Given the description of an element on the screen output the (x, y) to click on. 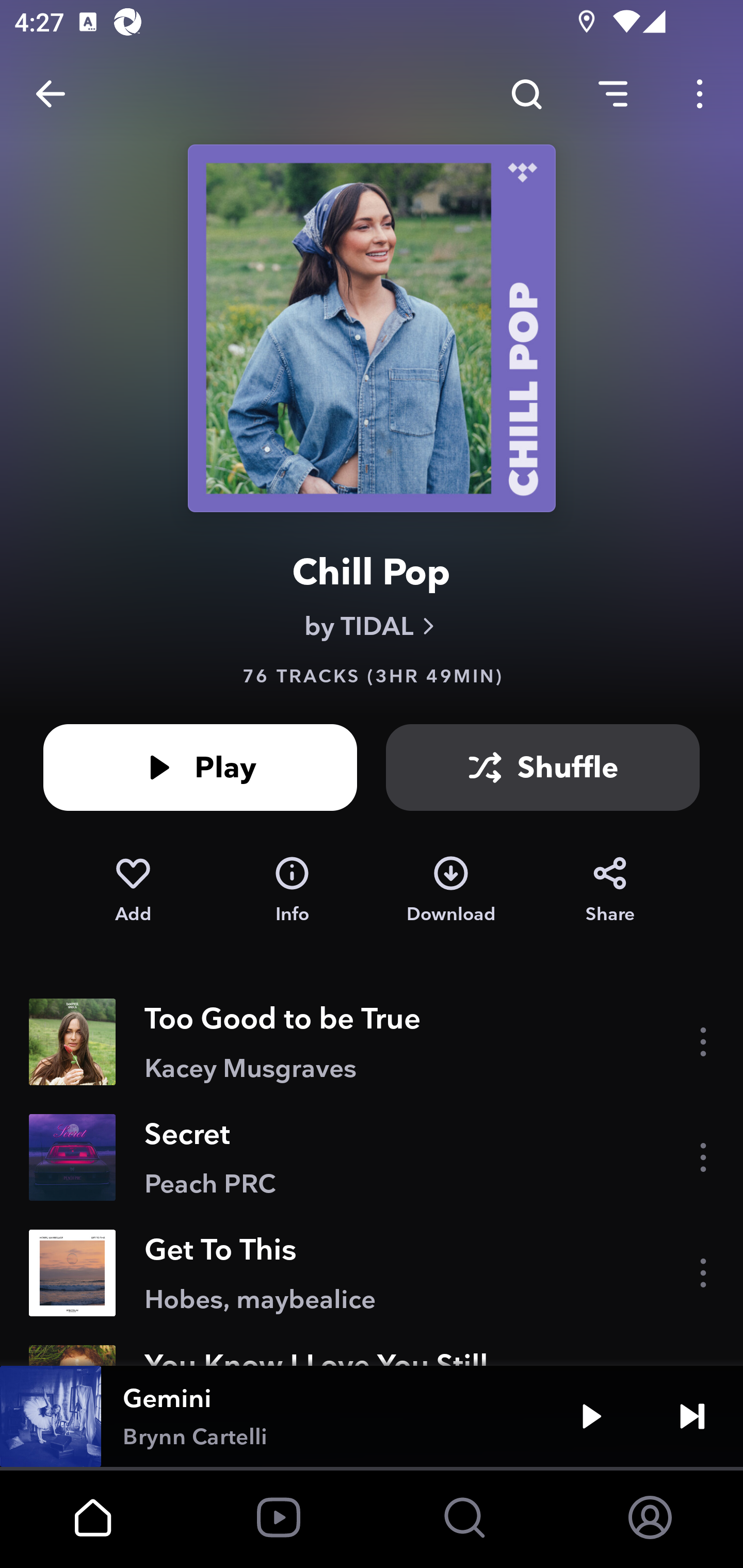
Back (50, 93)
Search (525, 93)
Sorting (612, 93)
Options (699, 93)
by TIDAL (371, 625)
Play (200, 767)
Shuffle (542, 767)
Add (132, 890)
Info (291, 890)
Download (450, 890)
Share (609, 890)
Too Good to be True Kacey Musgraves (371, 1041)
Secret Peach PRC (371, 1157)
Get To This Hobes, maybealice (371, 1273)
Gemini Brynn Cartelli Play (371, 1416)
Play (590, 1416)
